Given the description of an element on the screen output the (x, y) to click on. 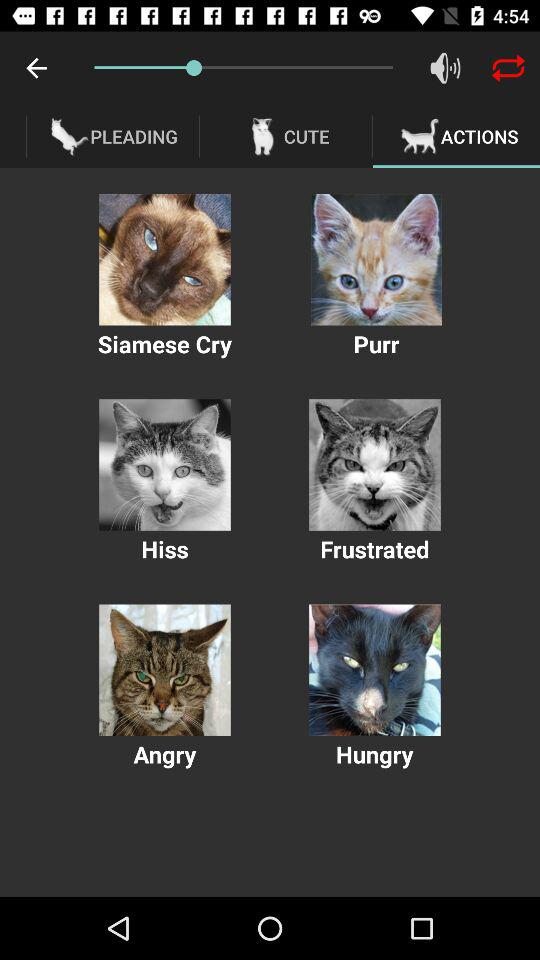
frustated state of action (374, 464)
